Given the description of an element on the screen output the (x, y) to click on. 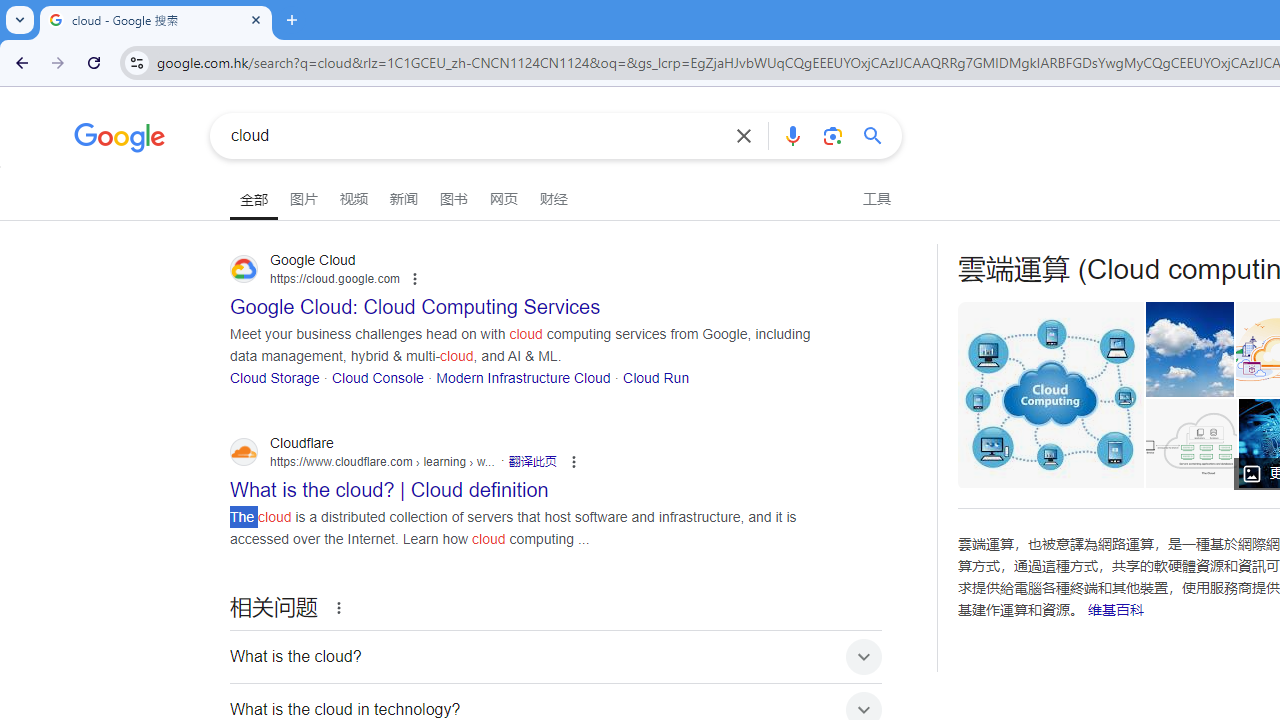
Cloud Console (377, 376)
